Given the description of an element on the screen output the (x, y) to click on. 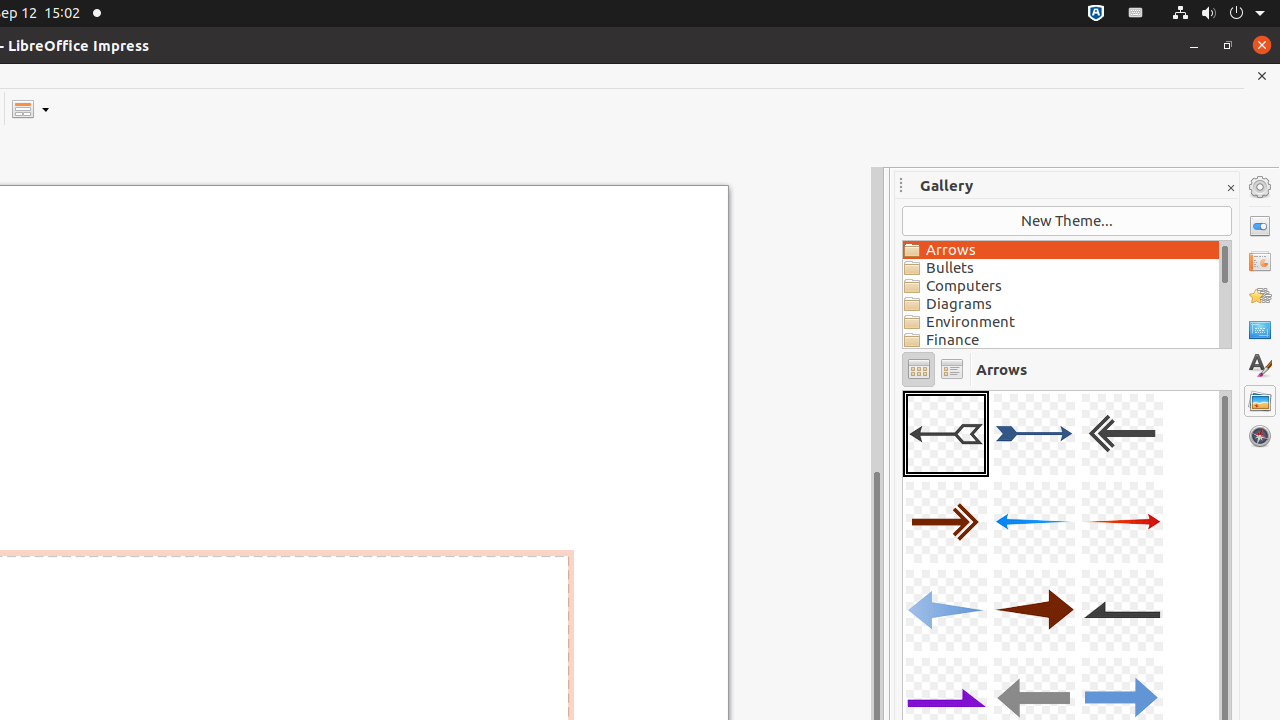
A05-Arrow-Blue-Left Element type: list-item (1034, 522)
A03-Arrow-Gray-Left Element type: list-item (1122, 433)
Properties Element type: radio-button (1260, 226)
A04-Arrow-DarkRed-Right Element type: list-item (946, 522)
A01-Arrow-Gray-Left Element type: list-item (946, 433)
